Given the description of an element on the screen output the (x, y) to click on. 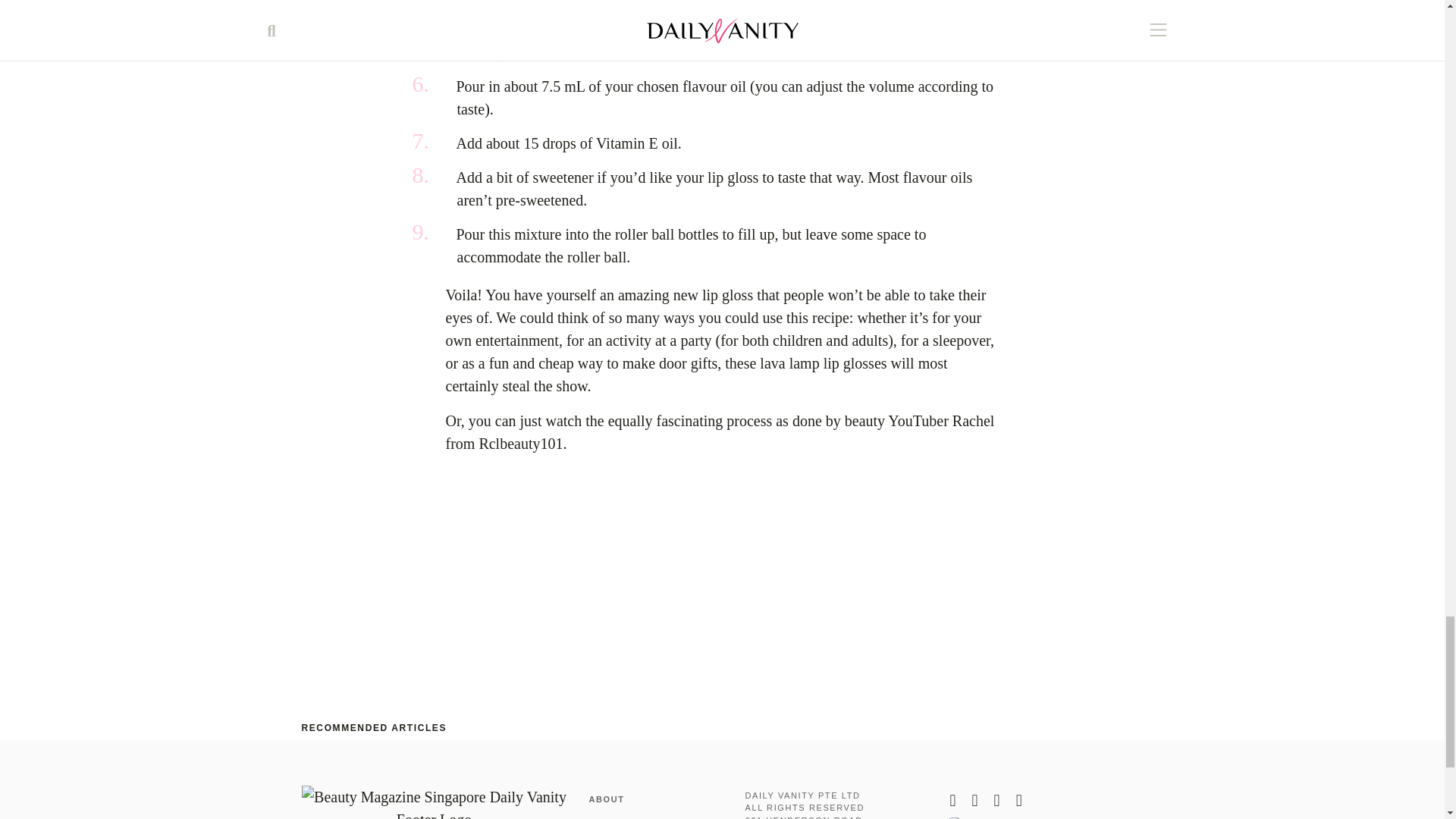
CONTACT (612, 818)
DIY Lava Lamp Lip Gloss! (635, 573)
ABOUT (606, 798)
Follow Us on Xiao Hong Shu (1045, 816)
